Given the description of an element on the screen output the (x, y) to click on. 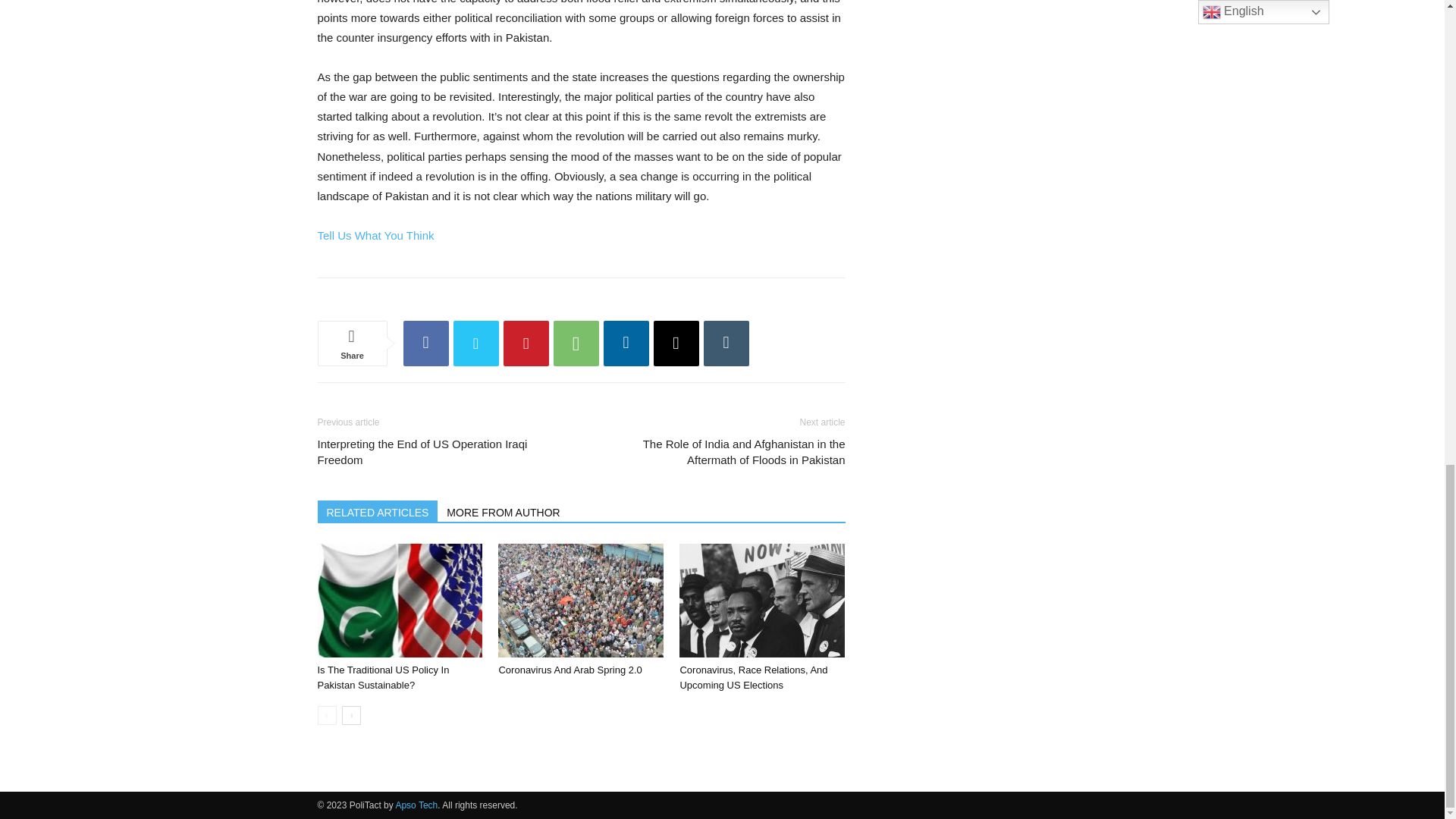
Email (675, 343)
Pinterest (525, 343)
Facebook (425, 343)
Linkedin (626, 343)
Is The Traditional US Policy In Pakistan Sustainable? (399, 600)
Tumblr (726, 343)
Twitter (475, 343)
WhatsApp (575, 343)
